Given the description of an element on the screen output the (x, y) to click on. 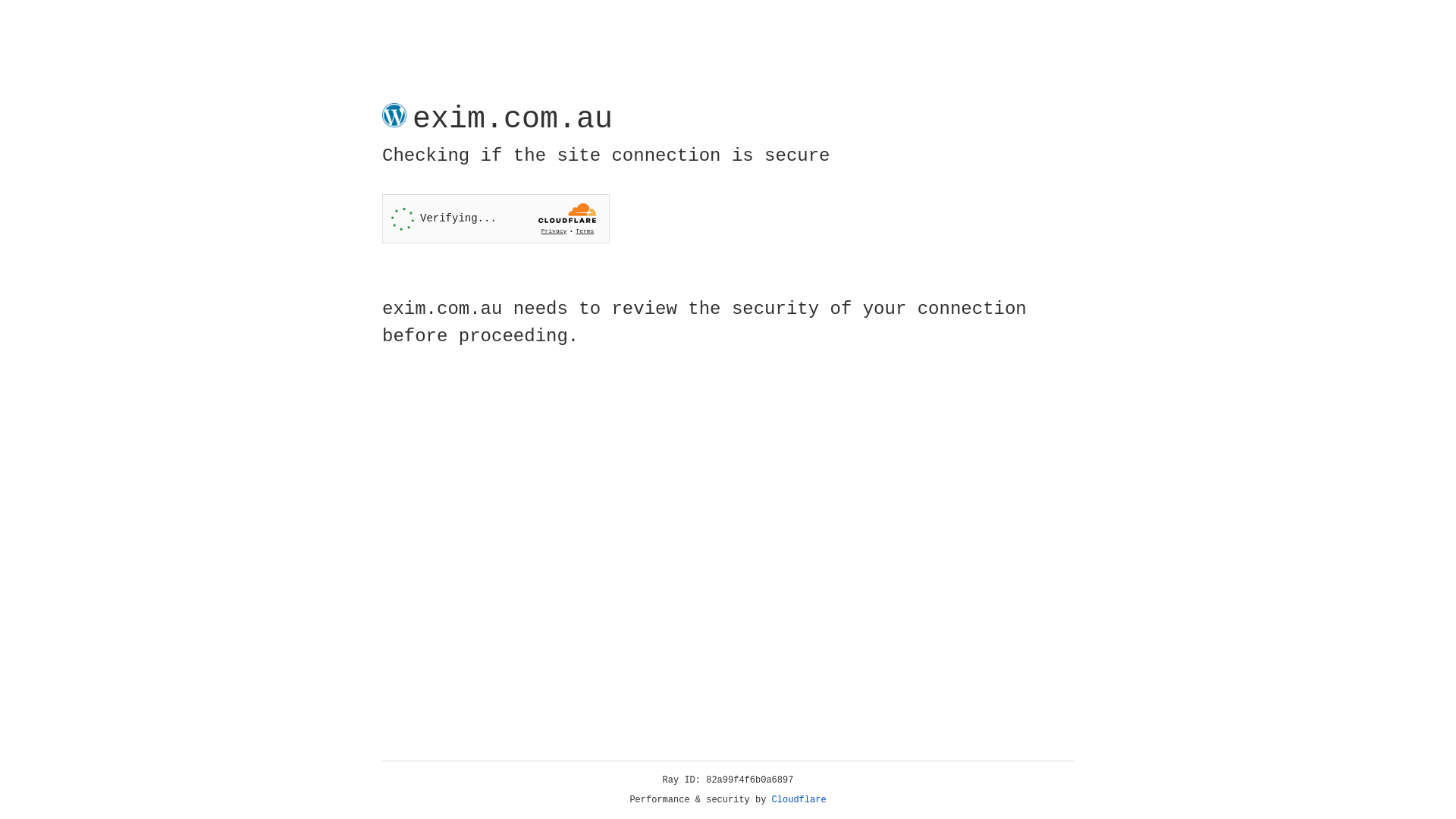
Cloudflare Element type: text (798, 799)
Widget containing a Cloudflare security challenge Element type: hover (495, 218)
